Given the description of an element on the screen output the (x, y) to click on. 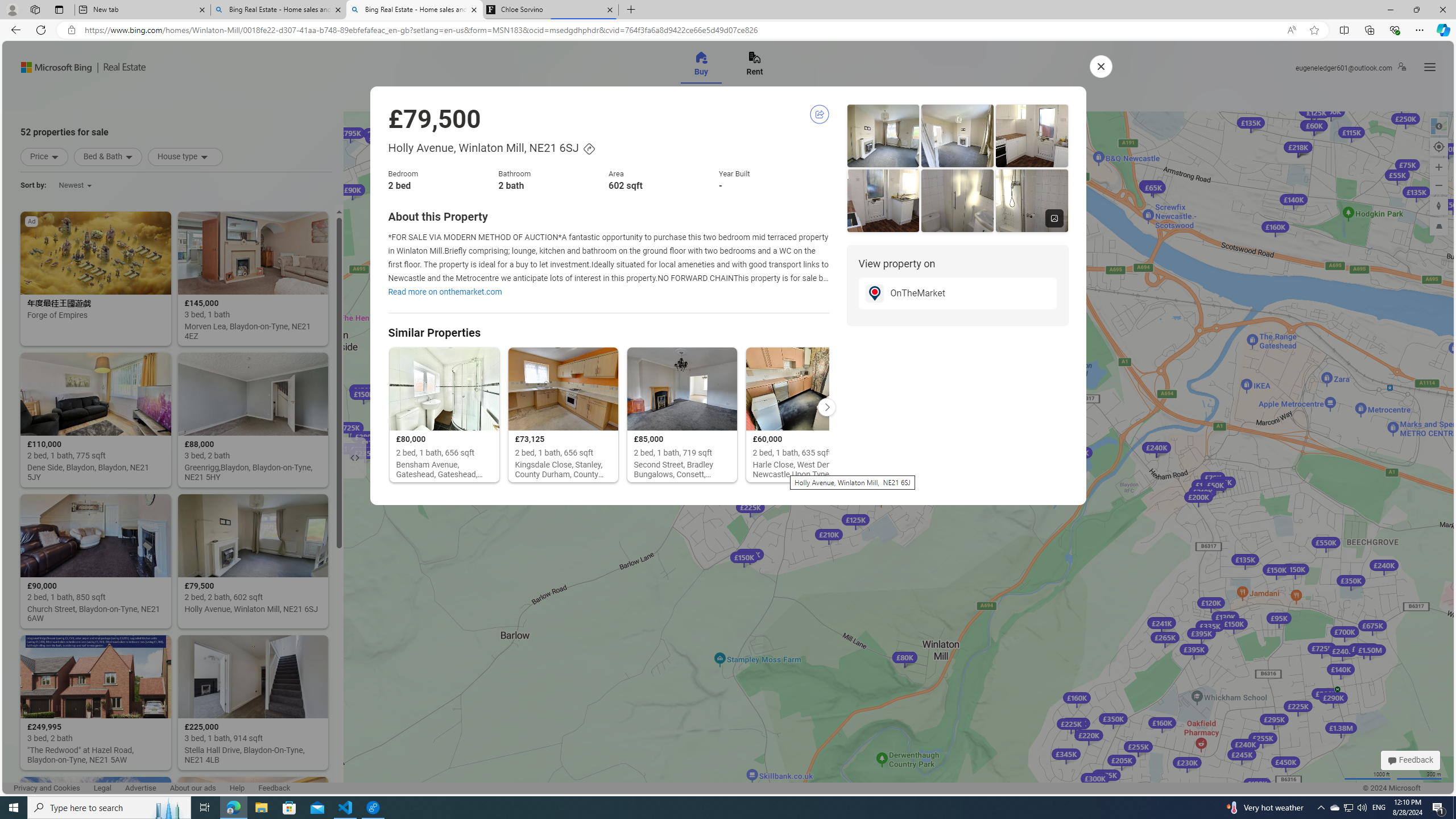
Chloe Sorvino (550, 9)
Bing Real Estate - Home sales and rental listings (414, 9)
